Given the description of an element on the screen output the (x, y) to click on. 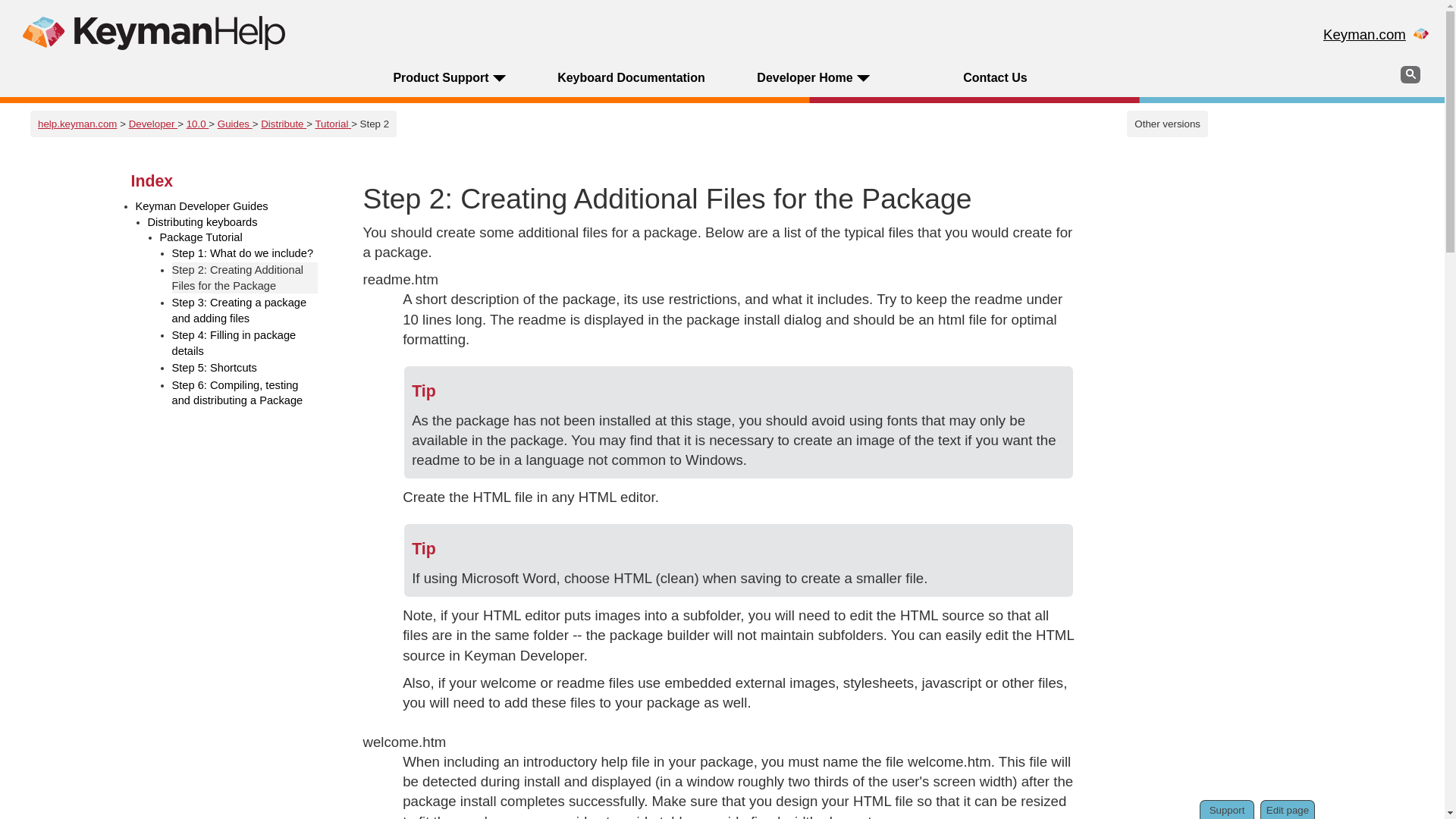
Step 6: Compiling, testing and distributing a Package (244, 392)
Step 1: What do we include? (244, 253)
Step 4: Filling in package details (244, 342)
Keyboard Documentation (631, 77)
Step 5: Shortcuts (244, 367)
Step 3: Creating a package and adding files (244, 309)
Developer Home (804, 77)
Product Support (440, 77)
